Given the description of an element on the screen output the (x, y) to click on. 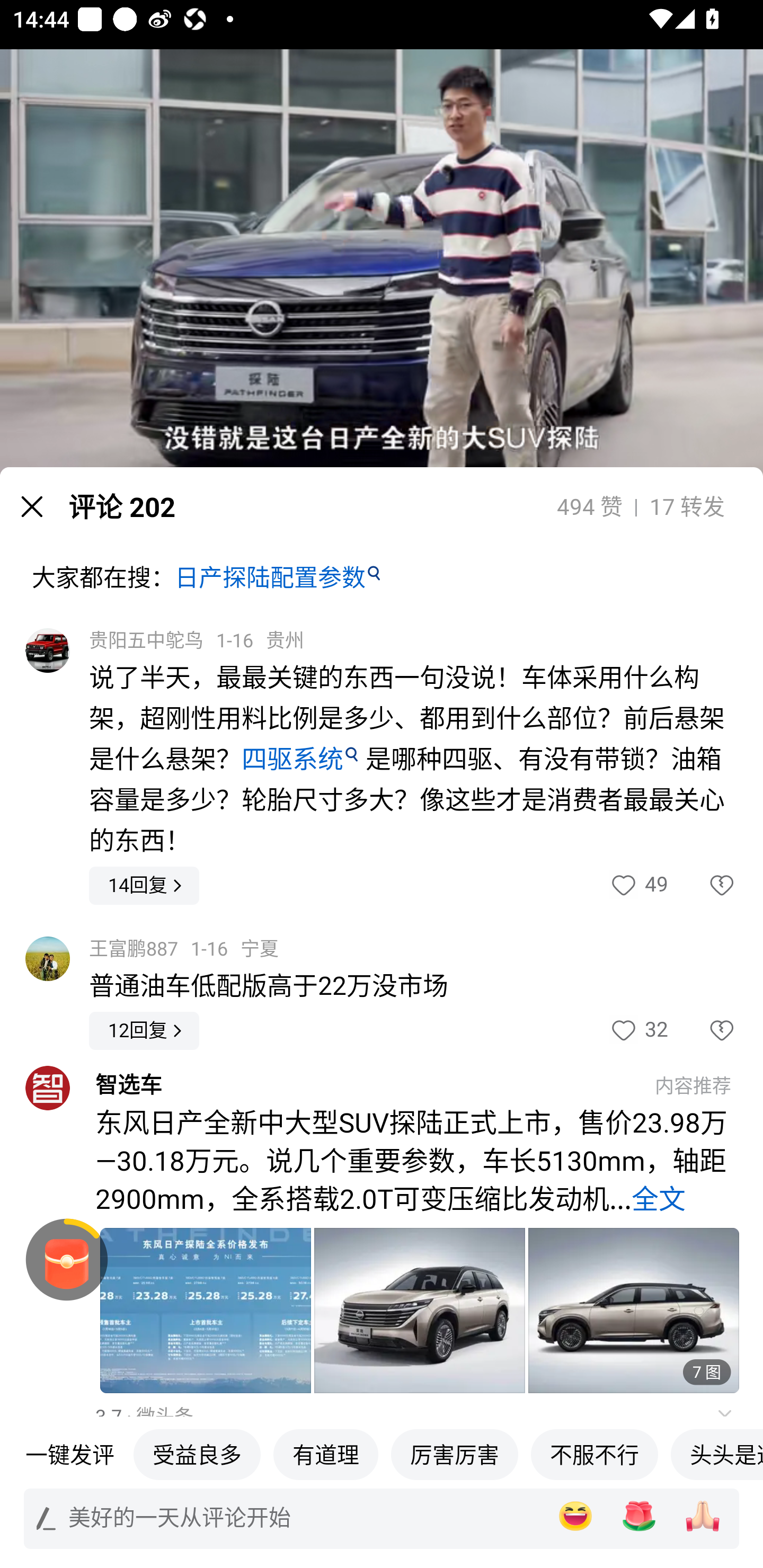
关闭 (31, 506)
贵阳五中鸵鸟 1-16 贵州 (196, 641)
14回复 (144, 885)
赞49 赞 (637, 885)
踩 (702, 885)
王富鹏887 1-16 宁夏 (183, 948)
12回复 (144, 1030)
赞32 赞 (637, 1030)
踩 (702, 1030)
智选车 (365, 1084)
阅读赚金币 (66, 1259)
受益良多 (196, 1454)
有道理 (325, 1454)
厉害厉害 (454, 1454)
不服不行 (594, 1454)
头头是道 (716, 1454)
美好的一天从评论开始 [大笑] [玫瑰] [祈祷] (381, 1518)
[大笑] (574, 1516)
[玫瑰] (638, 1516)
[祈祷] (702, 1516)
